Given the description of an element on the screen output the (x, y) to click on. 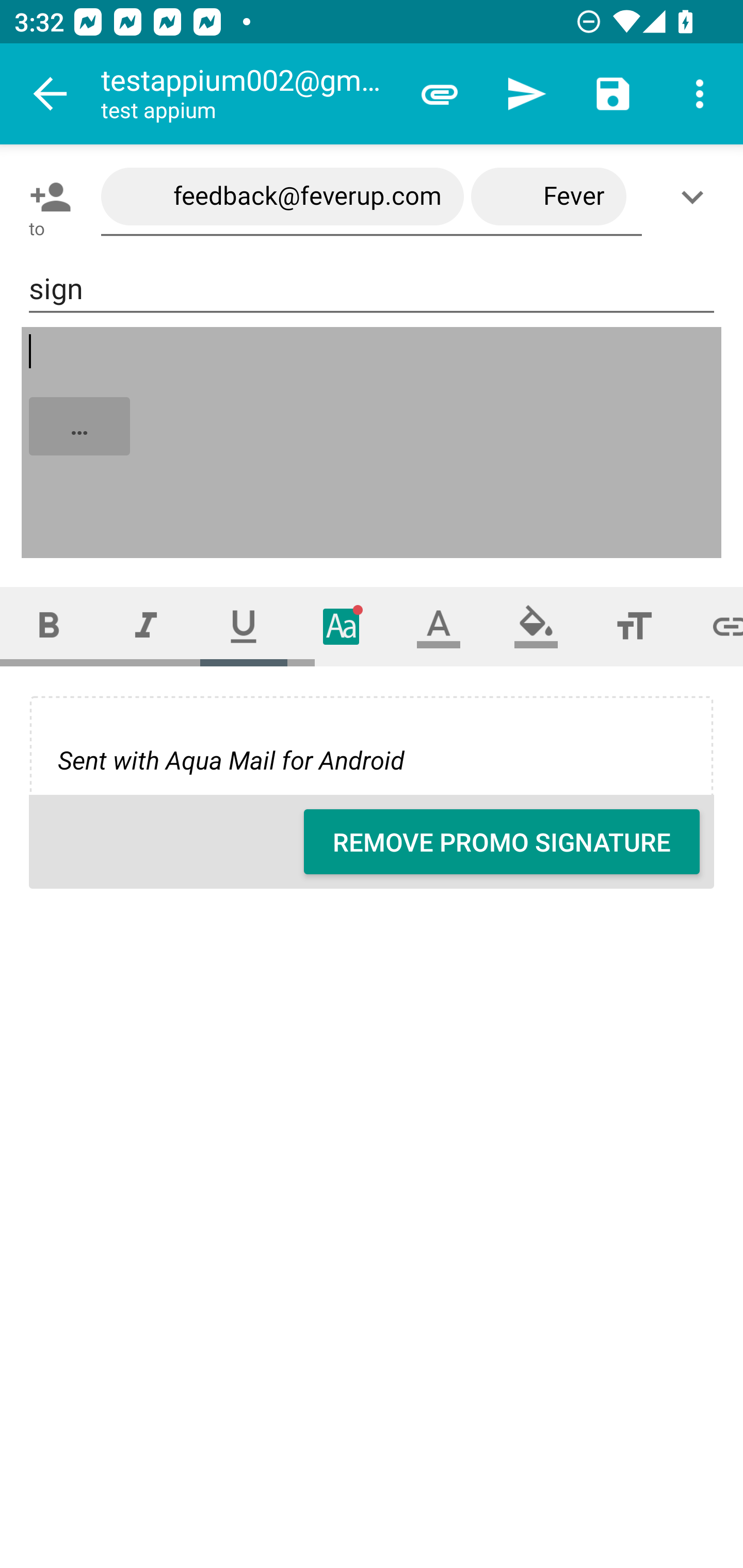
Navigate up (50, 93)
testappium002@gmail.com test appium (248, 93)
Attach (439, 93)
Send (525, 93)
Save (612, 93)
More options (699, 93)
feedback@feverup.com, Fever <hello@feverup.com>,  (371, 197)
Pick contact: To (46, 196)
Show/Add CC/BCC (696, 196)
sign (371, 288)

…
 (372, 442)
Bold (48, 626)
Italic (145, 626)
Underline (243, 626)
Typeface (font) (341, 626)
Text color (438, 626)
Fill color (536, 626)
Font size (633, 626)
REMOVE PROMO SIGNATURE (501, 841)
